Given the description of an element on the screen output the (x, y) to click on. 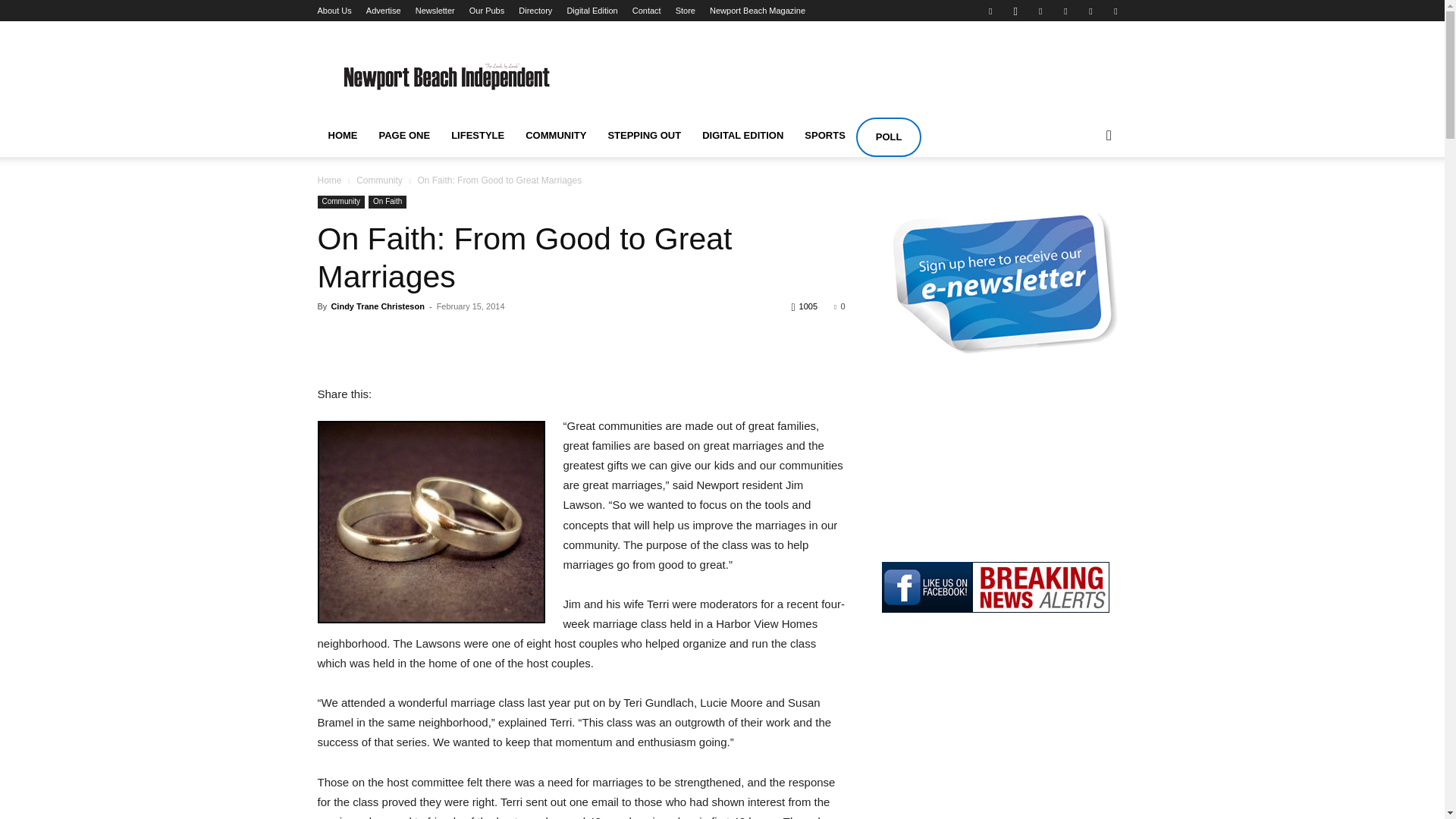
Mail (1065, 10)
Twitter (1114, 10)
Linkedin (1040, 10)
Instagram (1015, 10)
Facebook (989, 10)
View all posts in Community (379, 180)
RSS (1090, 10)
